Given the description of an element on the screen output the (x, y) to click on. 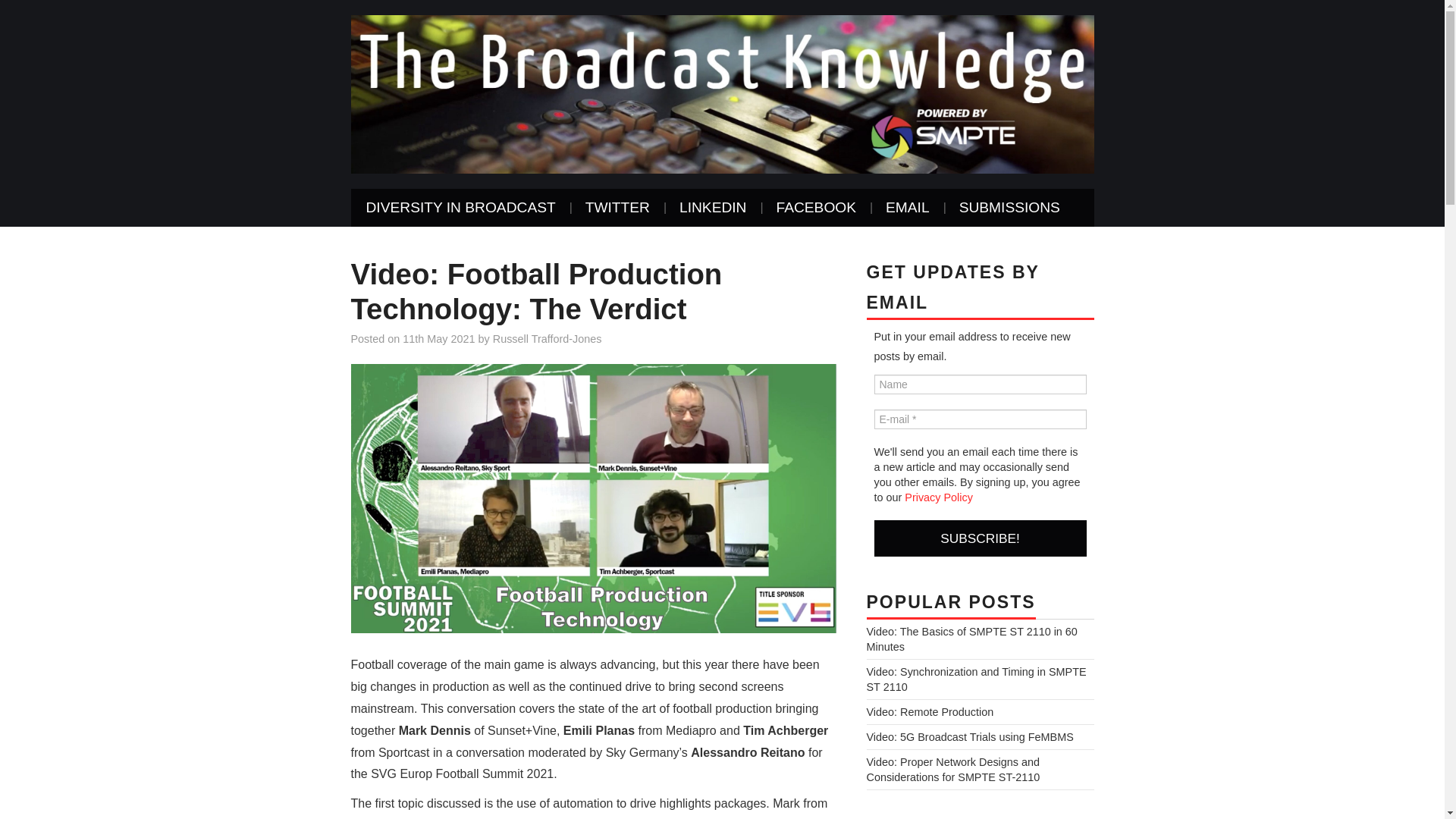
LINKEDIN (712, 207)
SUBMISSIONS (1009, 207)
Russell Trafford-Jones (547, 338)
DIVERSITY IN BROADCAST (460, 207)
EMAIL (907, 207)
FACEBOOK (815, 207)
Name (979, 383)
11th May 2021 (438, 338)
06:33 (438, 338)
The Broadcast Knowledge (721, 92)
E-mail (979, 419)
TWITTER (617, 207)
View all posts by Russell Trafford-Jones (547, 338)
Subscribe! (979, 538)
